Given the description of an element on the screen output the (x, y) to click on. 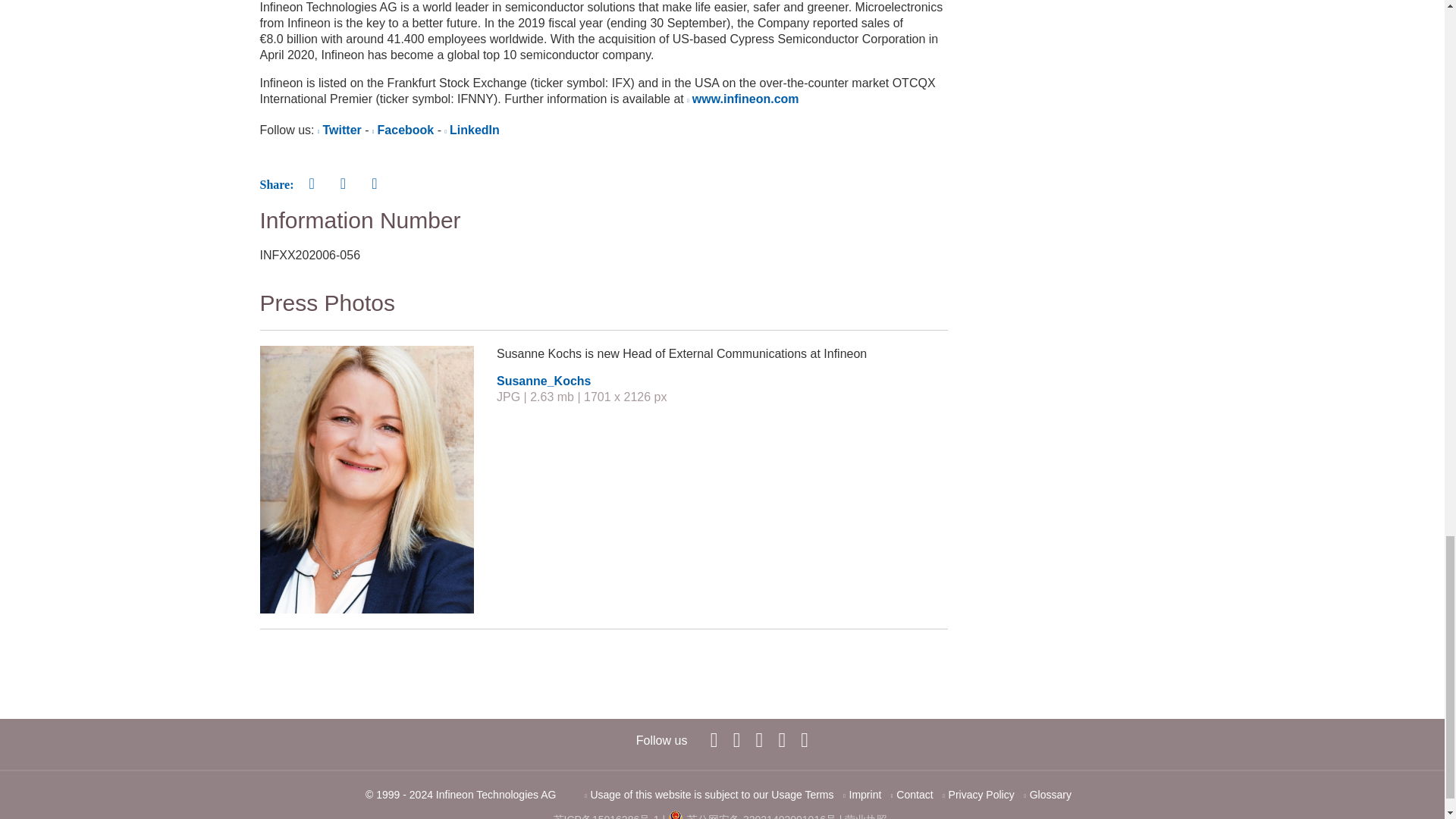
Share this page on Facebook (311, 183)
Infineon (781, 738)
LinkedIn (736, 738)
Share this page on LinkedIn (343, 183)
Infineon (759, 738)
Instagram (804, 738)
Share this page on Twitter (374, 183)
Infineon (714, 738)
